Given the description of an element on the screen output the (x, y) to click on. 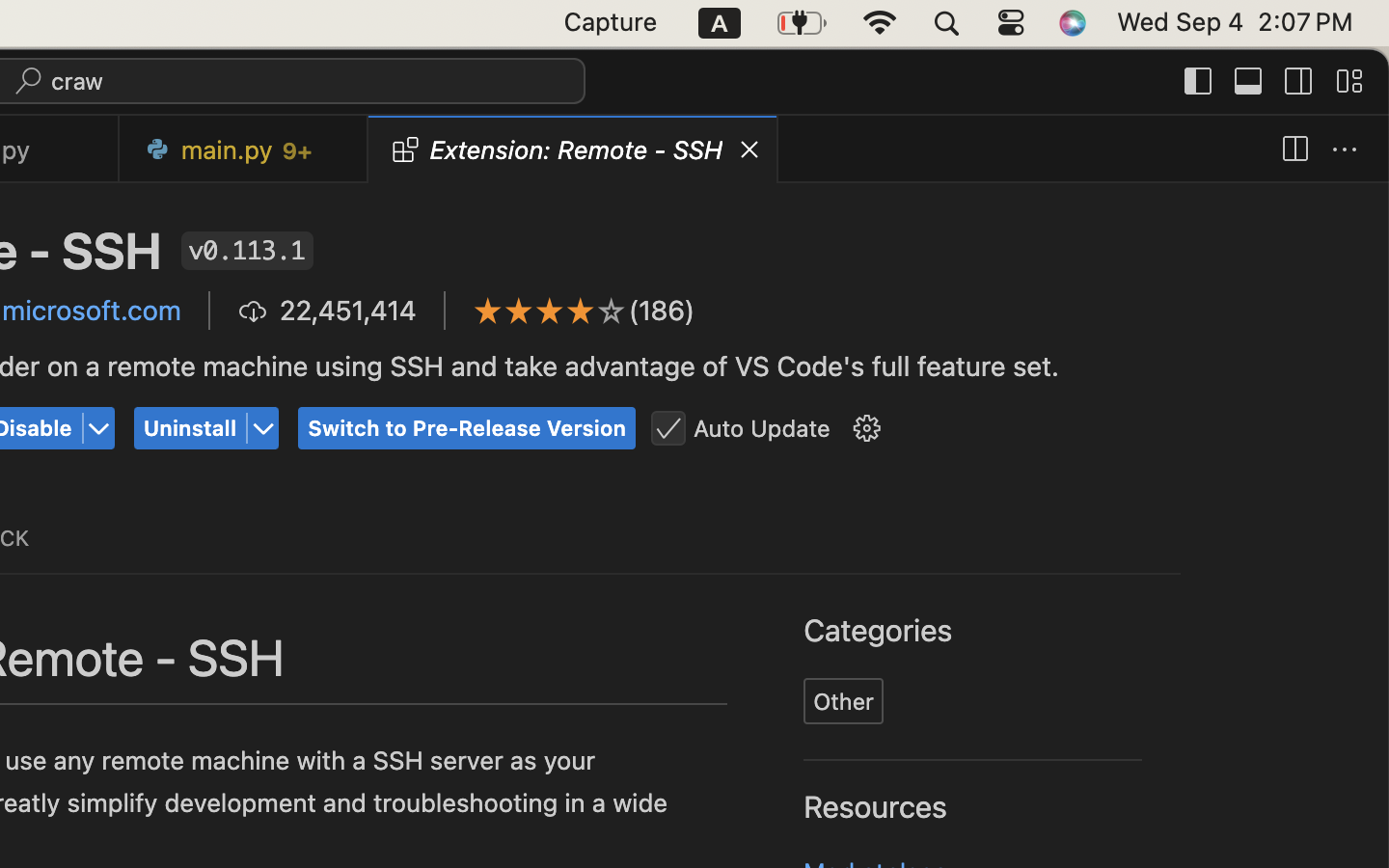
 Element type: AXCheckBox (1299, 80)
 Element type: AXStaticText (1344, 150)
Resources Element type: AXStaticText (875, 806)
 Element type: AXCheckBox (1248, 80)
 Element type: AXStaticText (98, 428)
